Given the description of an element on the screen output the (x, y) to click on. 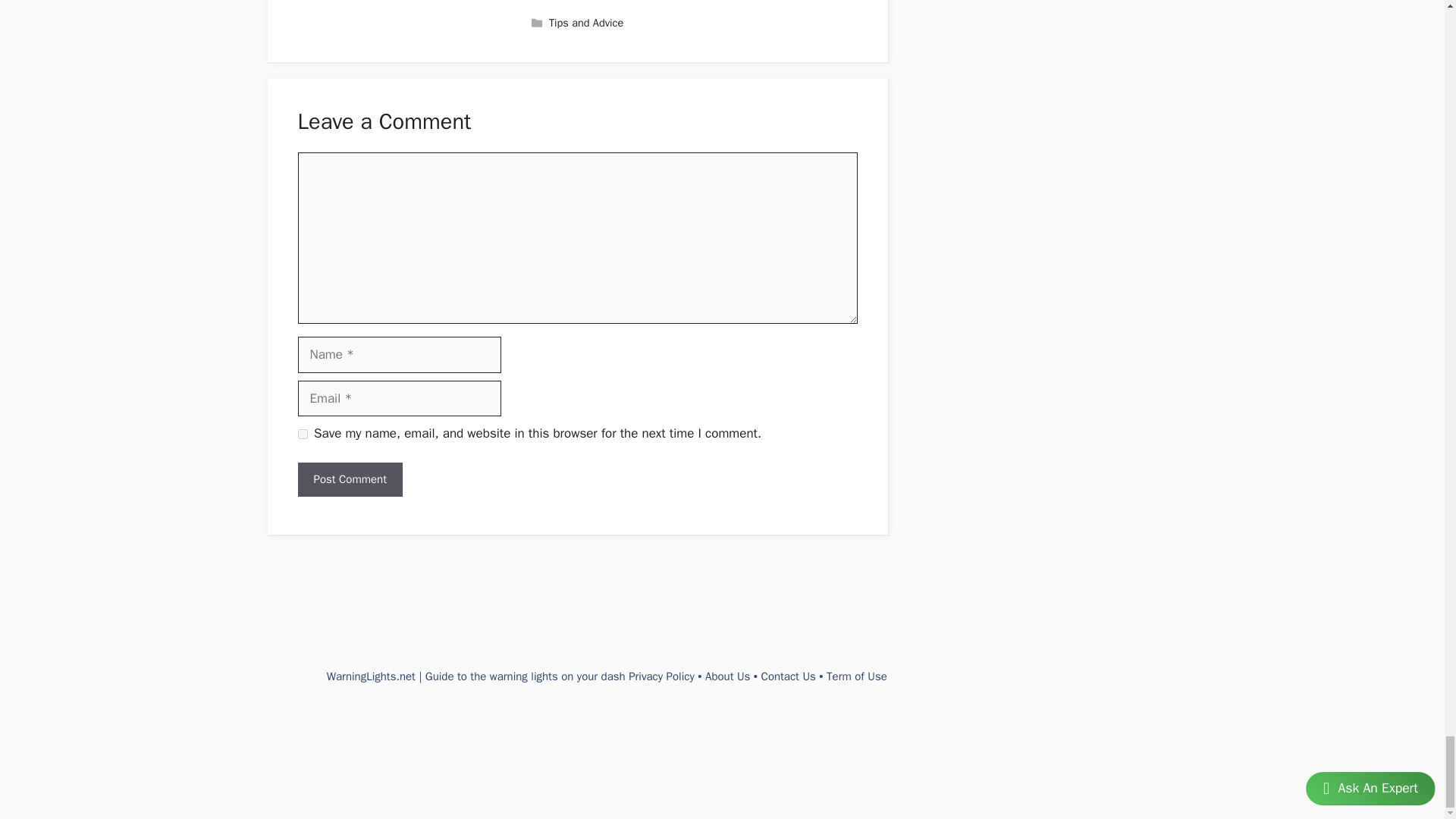
yes (302, 433)
Post Comment (349, 479)
